Given the description of an element on the screen output the (x, y) to click on. 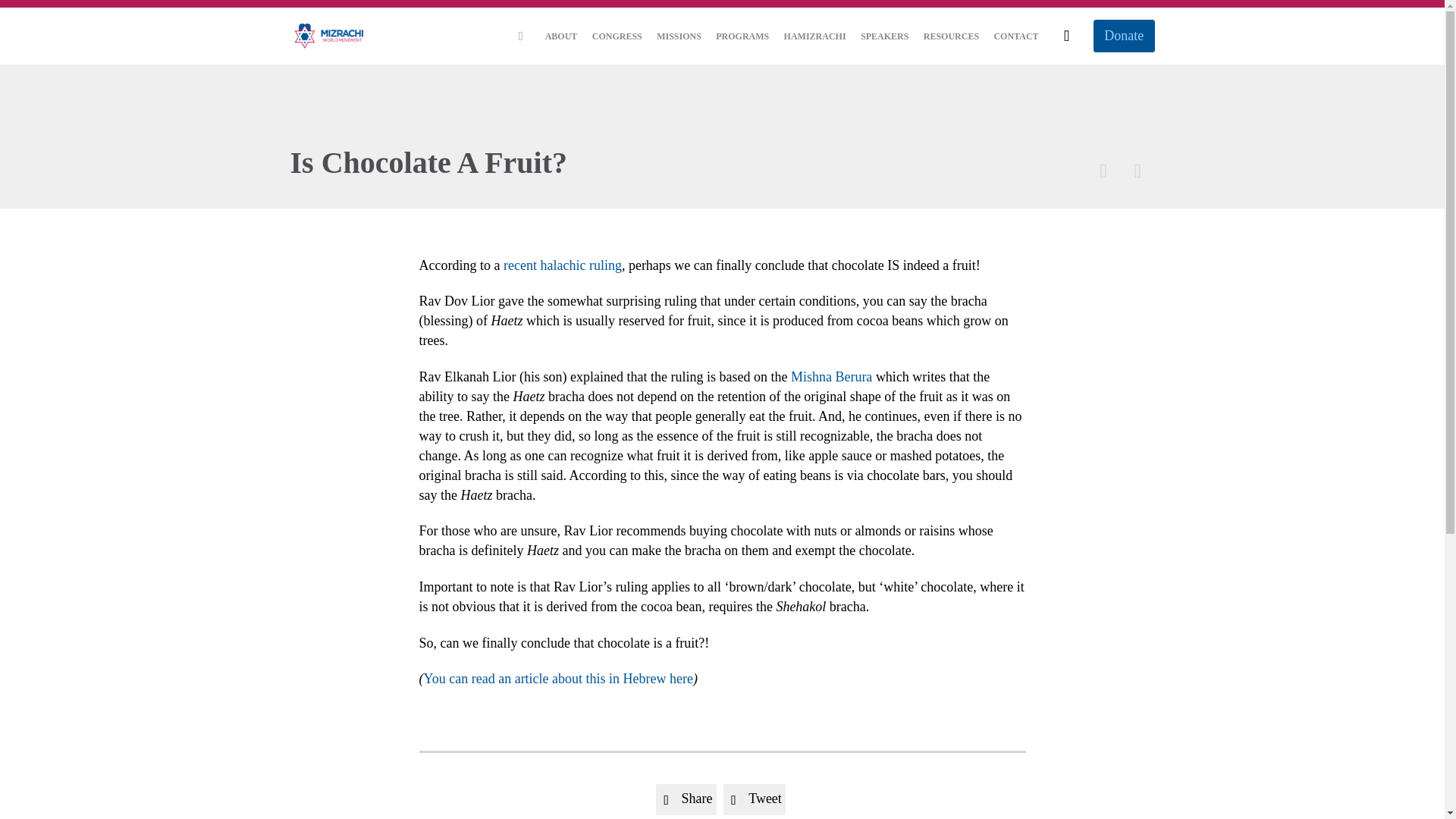
ABOUT (561, 36)
SPEAKERS (885, 36)
CONGRESS (616, 36)
Share on Facebook (686, 798)
Share on Twitter (754, 798)
PROGRAMS (742, 36)
HAMIZRACHI (813, 36)
RESOURCES (951, 36)
World Mizrachi (328, 35)
MISSIONS (678, 36)
